Given the description of an element on the screen output the (x, y) to click on. 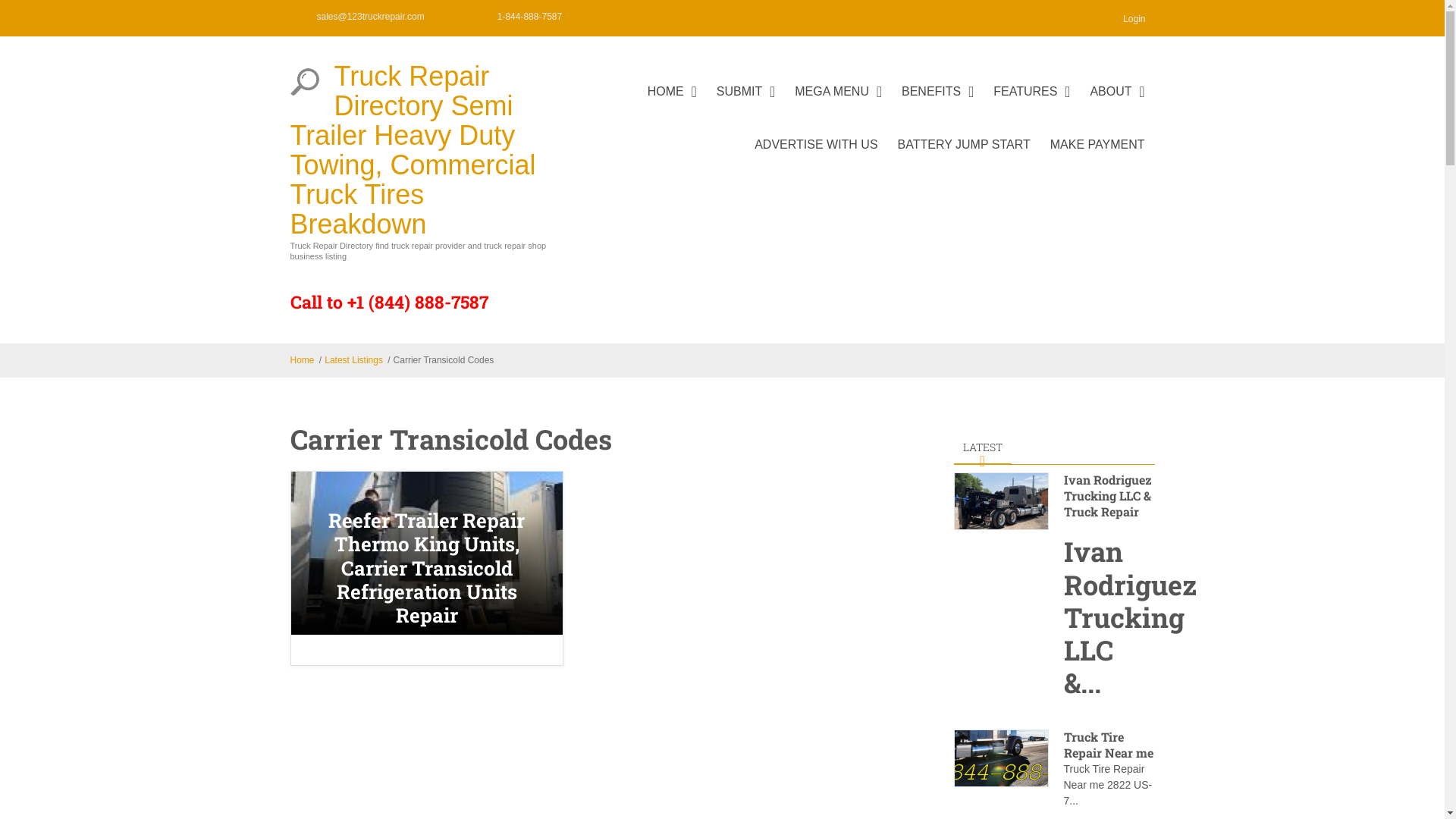
Latest Listings Element type: text (353, 359)
MEGA MENU Element type: text (837, 103)
facebook Element type: text (624, 16)
sales@123truckrepair.com Element type: text (370, 16)
FEATURES Element type: text (1031, 103)
LATEST
(ACTIVE TAB) Element type: text (982, 447)
MAKE PAYMENT Element type: text (1097, 156)
BATTERY JUMP START Element type: text (964, 156)
googleplus Element type: text (692, 16)
youtube Element type: text (761, 16)
SUBMIT Element type: text (745, 103)
Ivan Rodriguez Trucking LLC & Truck Repair Element type: text (1107, 495)
twitter Element type: text (658, 16)
HOME Element type: text (671, 103)
BENEFITS Element type: text (937, 103)
Truck Tire Repair Near me Element type: text (1107, 744)
ADVERTISE WITH US Element type: text (815, 156)
Call to +1 (844) 888-7587 Element type: text (388, 301)
Home Element type: text (301, 359)
pinterest Element type: text (795, 16)
Truck Tire Repair Near me Element type: hover (1000, 758)
Home Element type: hover (303, 81)
Login Element type: text (1128, 18)
linkedin Element type: text (726, 16)
Skip to main content Element type: text (54, 0)
ABOUT Element type: text (1116, 103)
